Given the description of an element on the screen output the (x, y) to click on. 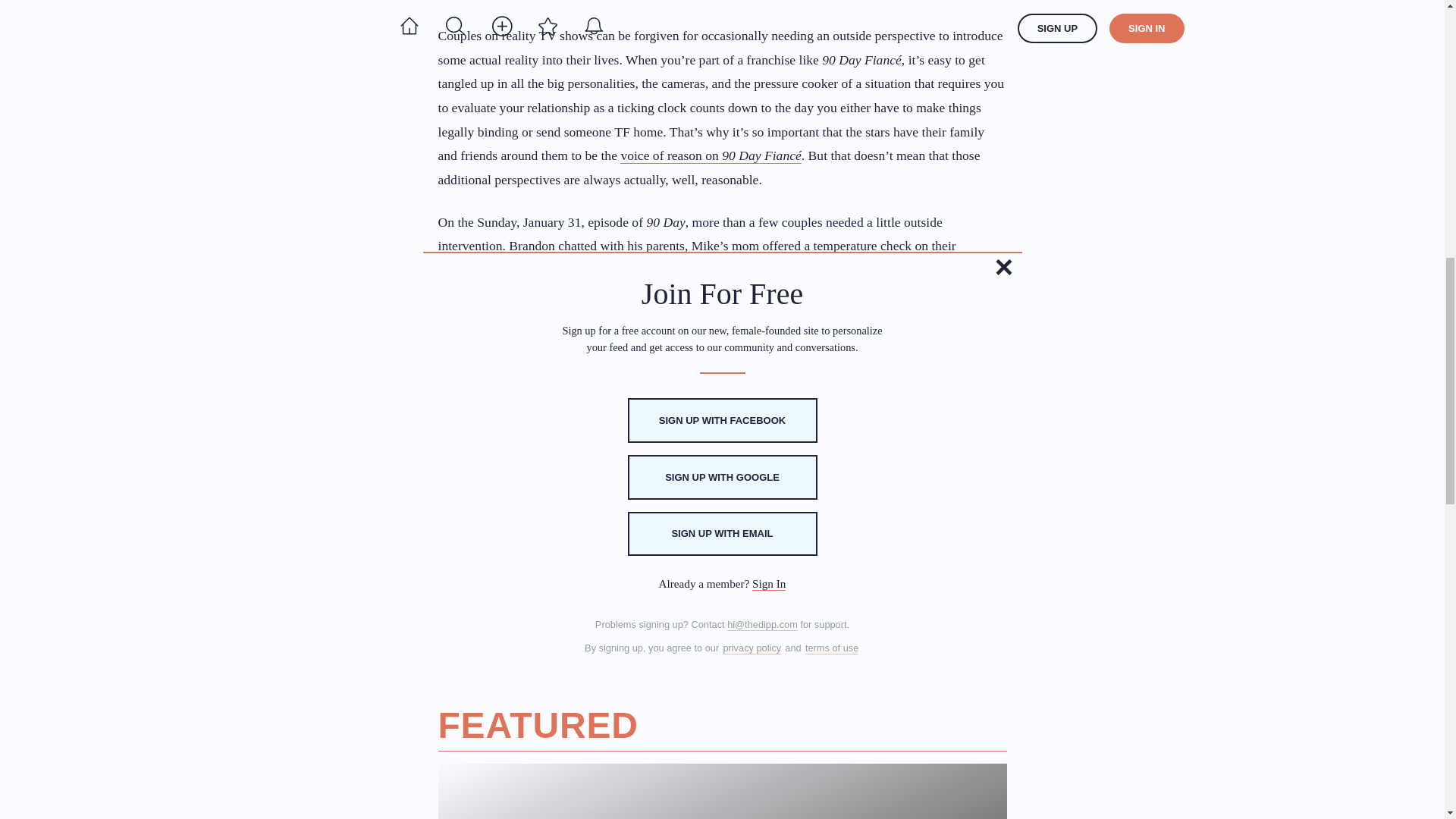
Sign In (769, 583)
SIGN UP WITH EMAIL (721, 533)
SIGN UP WITH FACEBOOK (721, 420)
terms of use (832, 648)
privacy policy (751, 648)
SIGN UP WITH GOOGLE (721, 477)
